Given the description of an element on the screen output the (x, y) to click on. 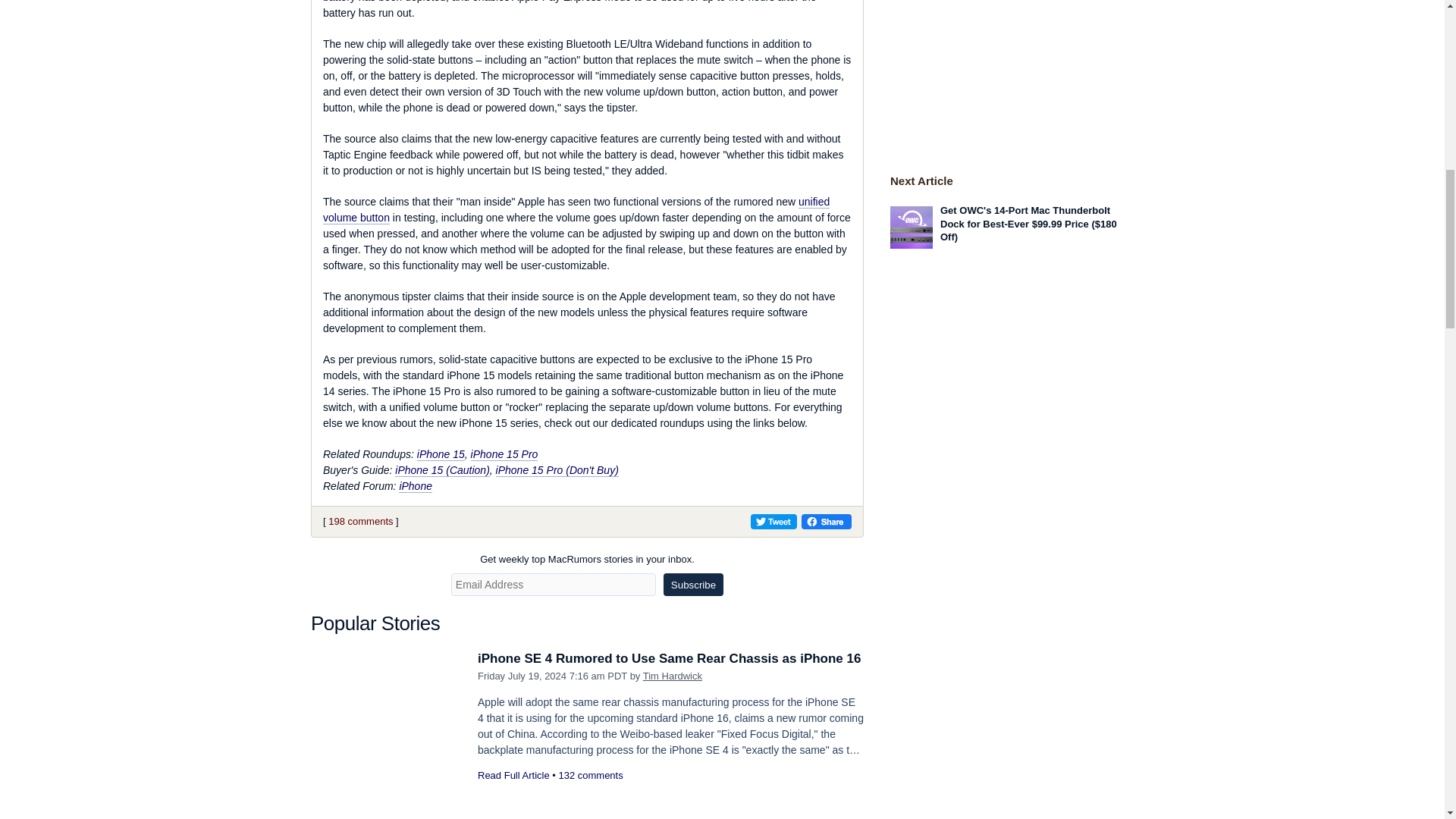
Subscribe (693, 584)
